Given the description of an element on the screen output the (x, y) to click on. 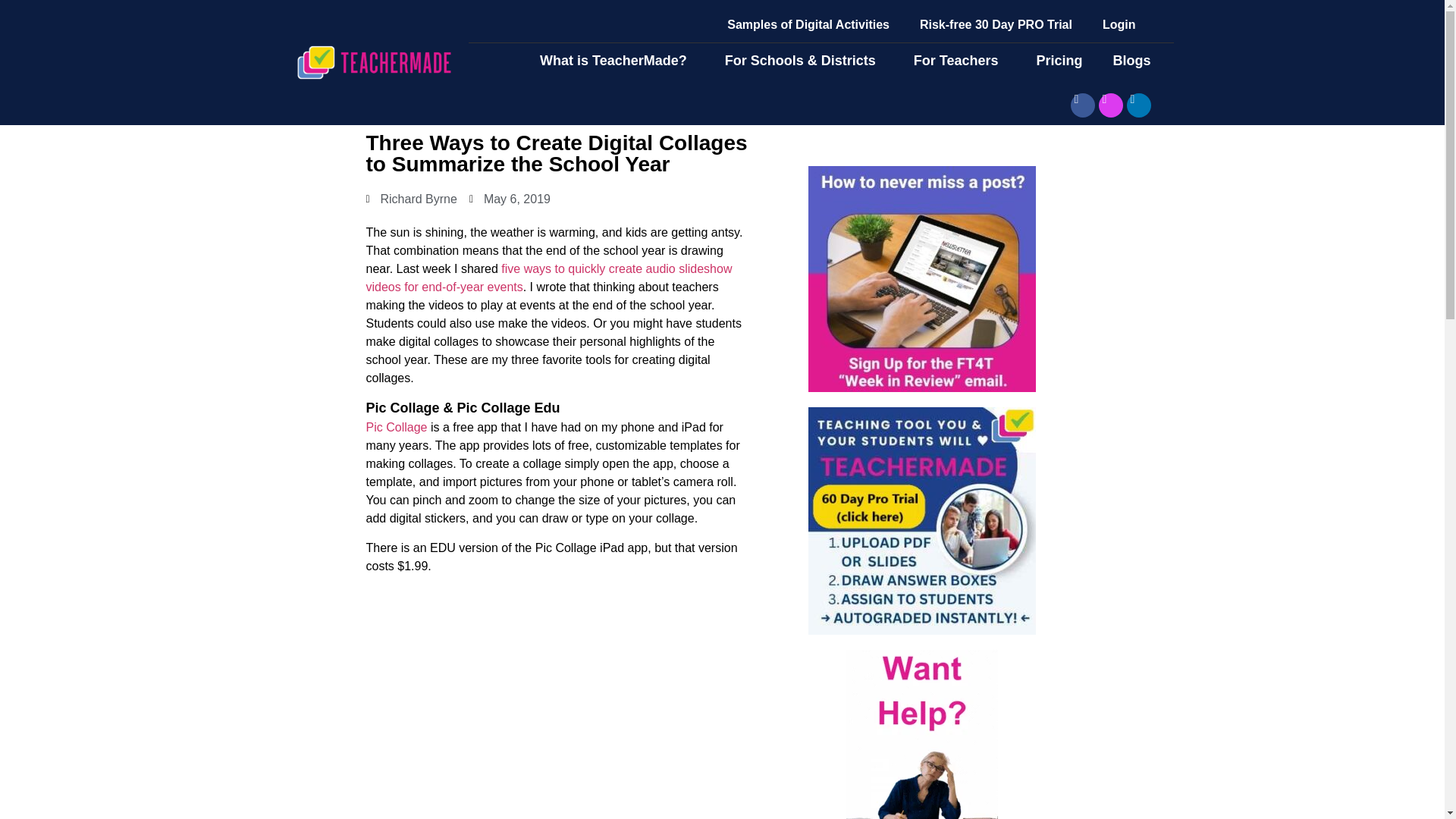
Pricing (1058, 60)
Risk-free 30 Day PRO Trial (995, 24)
What is TeacherMade? (617, 60)
Blogs (1135, 60)
Login (1119, 24)
For Teachers (960, 60)
Samples of Digital Activities (807, 24)
